Given the description of an element on the screen output the (x, y) to click on. 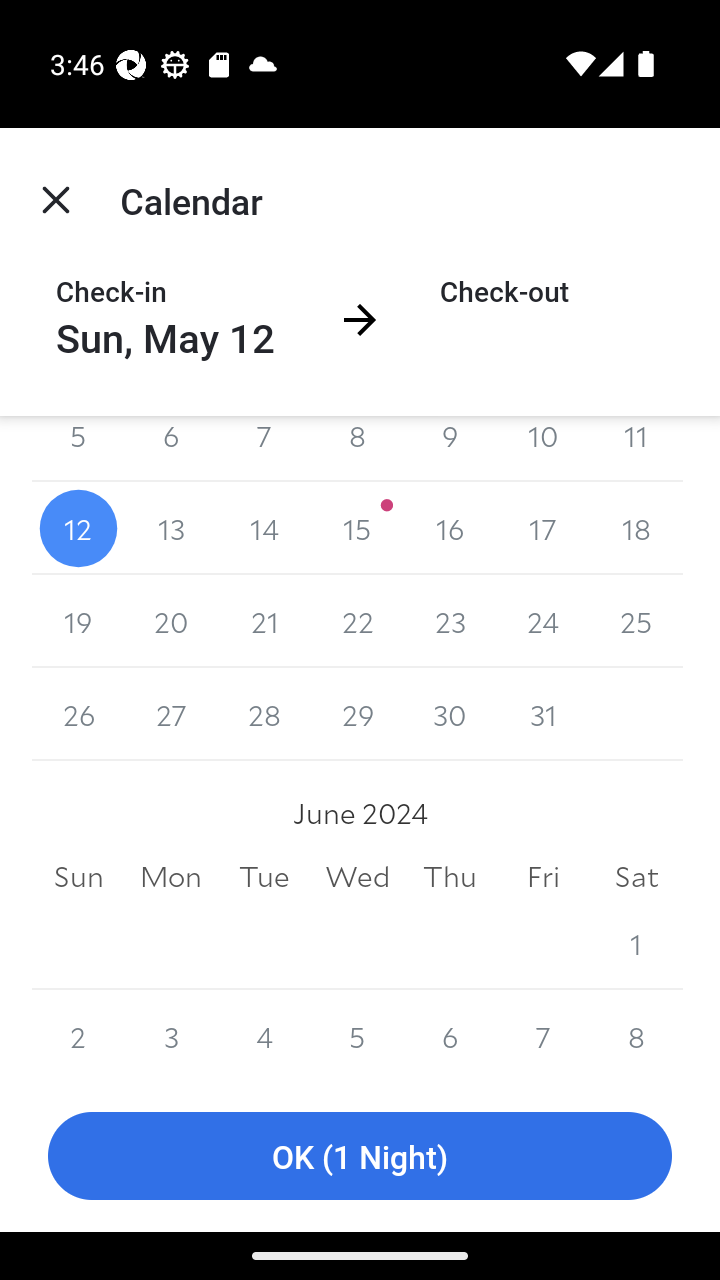
5 5 May 2024 (78, 449)
6 6 May 2024 (171, 449)
7 7 May 2024 (264, 449)
8 8 May 2024 (357, 449)
9 9 May 2024 (449, 449)
10 10 May 2024 (542, 449)
11 11 May 2024 (636, 449)
12 12 May 2024 (78, 528)
13 13 May 2024 (171, 528)
14 14 May 2024 (264, 528)
15 15 May 2024 (357, 528)
16 16 May 2024 (449, 528)
17 17 May 2024 (542, 528)
18 18 May 2024 (636, 528)
19 19 May 2024 (78, 621)
20 20 May 2024 (171, 621)
21 21 May 2024 (264, 621)
22 22 May 2024 (357, 621)
23 23 May 2024 (449, 621)
24 24 May 2024 (542, 621)
25 25 May 2024 (636, 621)
26 26 May 2024 (78, 714)
27 27 May 2024 (171, 714)
28 28 May 2024 (264, 714)
29 29 May 2024 (357, 714)
30 30 May 2024 (449, 714)
31 31 May 2024 (542, 714)
Sun (78, 876)
Mon (171, 876)
Tue (264, 876)
Wed (357, 876)
Thu (449, 876)
Fri (542, 876)
Sat (636, 876)
1 1 June 2024 (636, 943)
2 2 June 2024 (78, 1034)
3 3 June 2024 (171, 1034)
4 4 June 2024 (264, 1034)
5 5 June 2024 (357, 1034)
6 6 June 2024 (449, 1034)
7 7 June 2024 (542, 1034)
8 8 June 2024 (636, 1034)
OK (1 Night) (359, 1156)
